Given the description of an element on the screen output the (x, y) to click on. 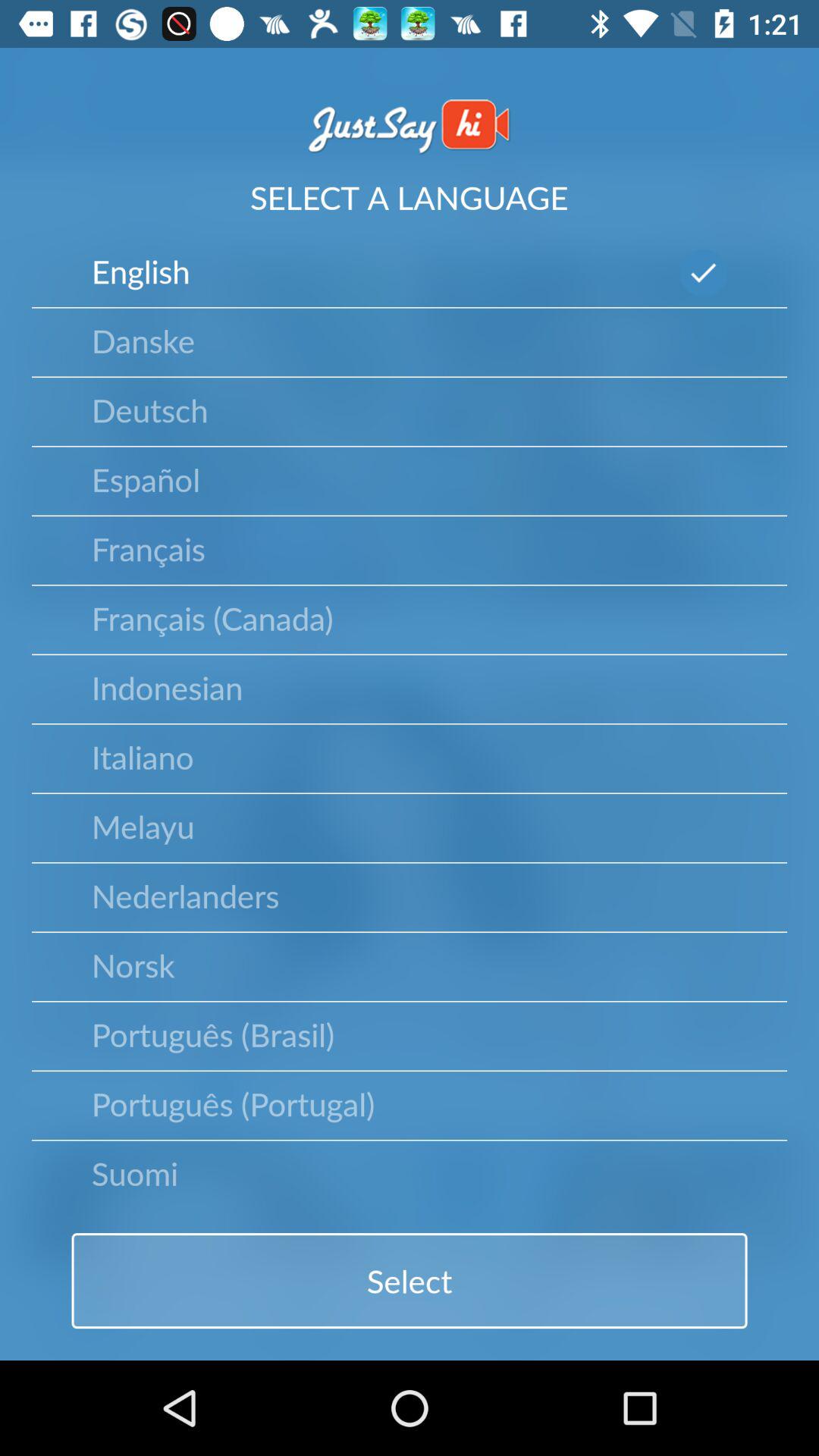
flip until the italiano (142, 756)
